Given the description of an element on the screen output the (x, y) to click on. 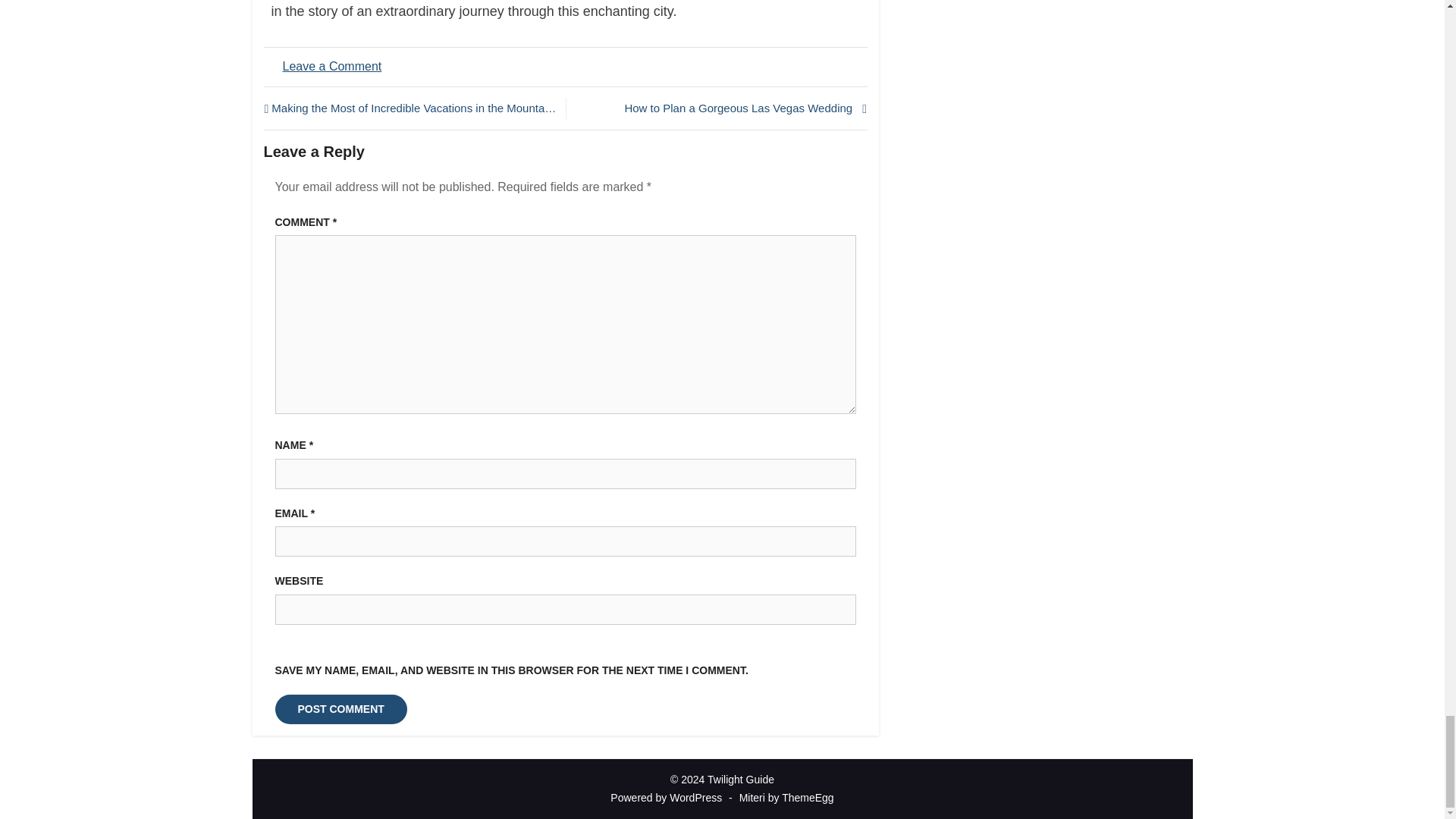
Post Comment (340, 708)
Making the Most of Incredible Vacations in the Mountains (410, 107)
How to Plan a Gorgeous Las Vegas Wedding (720, 107)
Post Comment (340, 708)
